Given the description of an element on the screen output the (x, y) to click on. 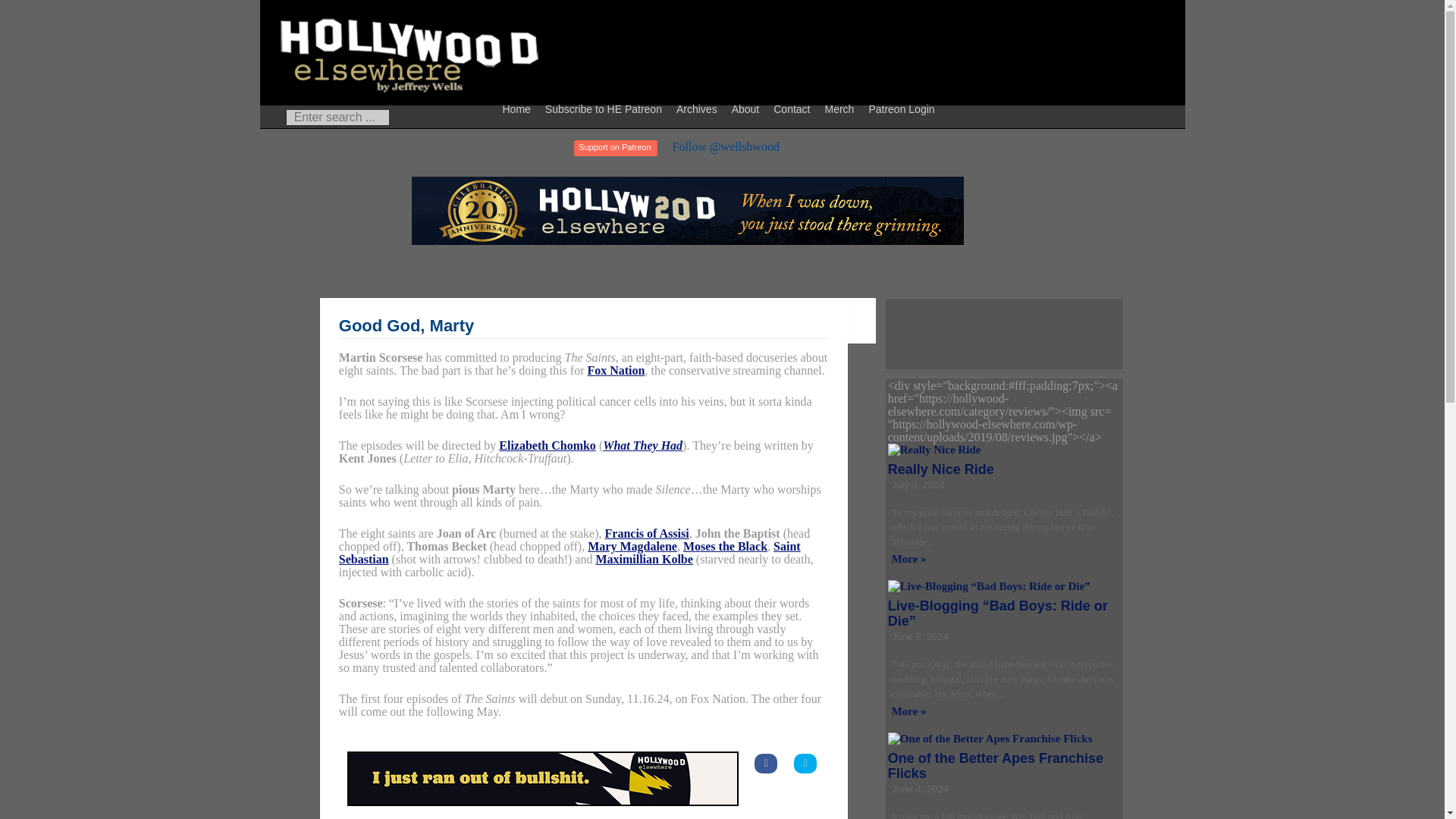
Francis of Assisi (646, 533)
Saint Sebastian (569, 552)
Archives (698, 108)
Support on Patreon (614, 148)
Moses the Black (724, 545)
Good God, Marty (406, 325)
What They Had (642, 445)
About (747, 108)
Elizabeth Chomko (547, 445)
Maximillian Kolbe (644, 558)
